Given the description of an element on the screen output the (x, y) to click on. 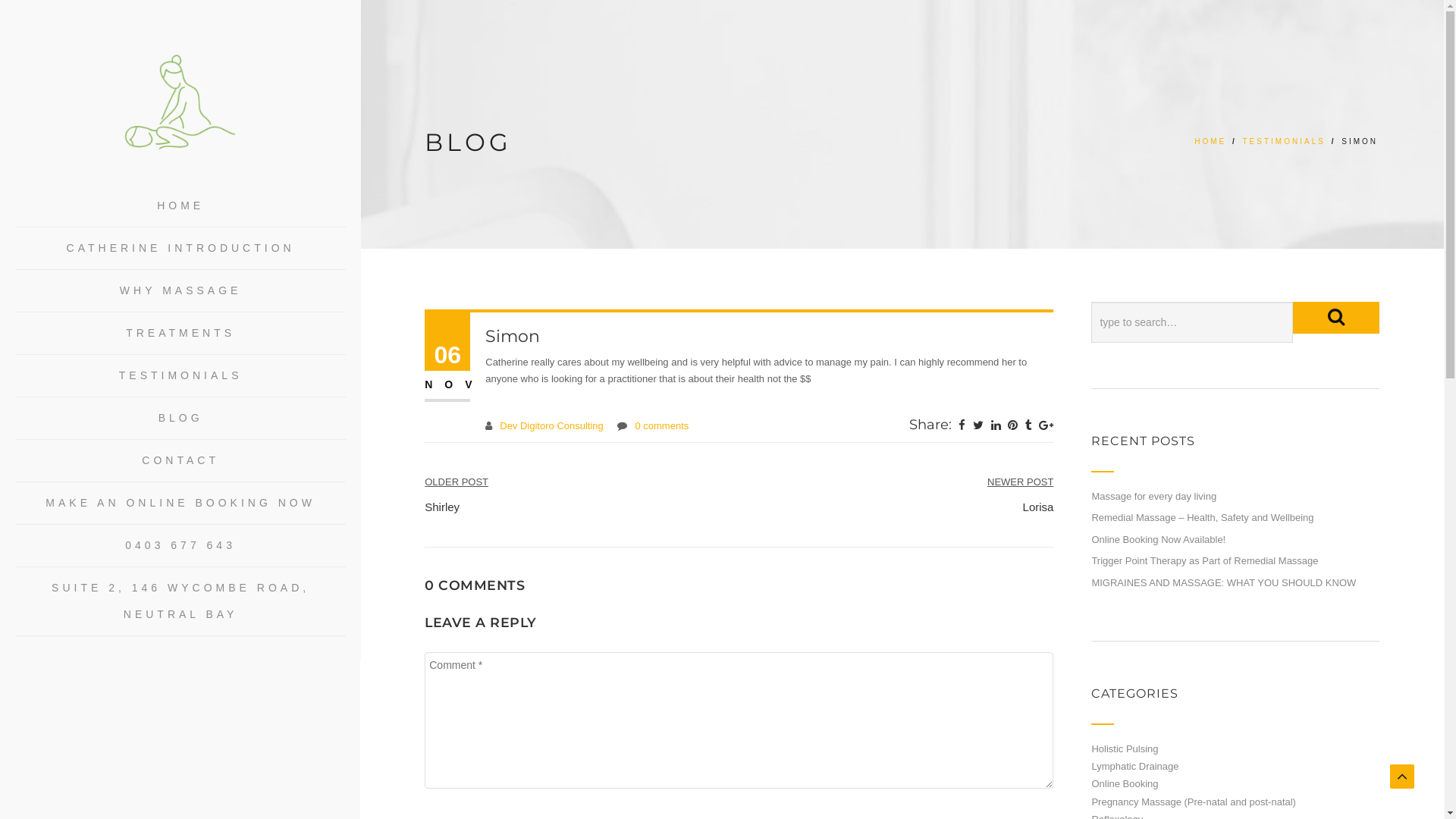
CATHERINE INTRODUCTION Element type: text (180, 248)
TESTIMONIALS Element type: text (180, 375)
MIGRAINES AND MASSAGE: WHAT YOU SHOULD KNOW Element type: text (1223, 582)
OLDER POST
Shirley Element type: text (456, 494)
0403 677 643 Element type: text (180, 545)
Holistic Pulsing Element type: text (1124, 748)
Massage for every day living Element type: text (1153, 496)
WHY MASSAGE Element type: text (180, 290)
HOME Element type: text (1210, 141)
TESTIMONIALS Element type: text (1283, 141)
TREATMENTS Element type: text (180, 333)
Online Booking Element type: text (1124, 783)
Pregnancy Massage (Pre-natal and post-natal) Element type: text (1193, 801)
Trigger Point Therapy as Part of Remedial Massage Element type: text (1204, 560)
Lymphatic Drainage Element type: text (1134, 765)
MAKE AN ONLINE BOOKING NOW Element type: text (180, 502)
SUITE 2, 146 WYCOMBE ROAD, NEUTRAL BAY Element type: text (180, 600)
BLOG Element type: text (180, 417)
Dev Digitoro Consulting Element type: text (551, 425)
HOME Element type: text (180, 205)
NEWER POST
Lorisa Element type: text (1020, 494)
Online Booking Now Available! Element type: text (1158, 539)
CONTACT Element type: text (180, 460)
